Given the description of an element on the screen output the (x, y) to click on. 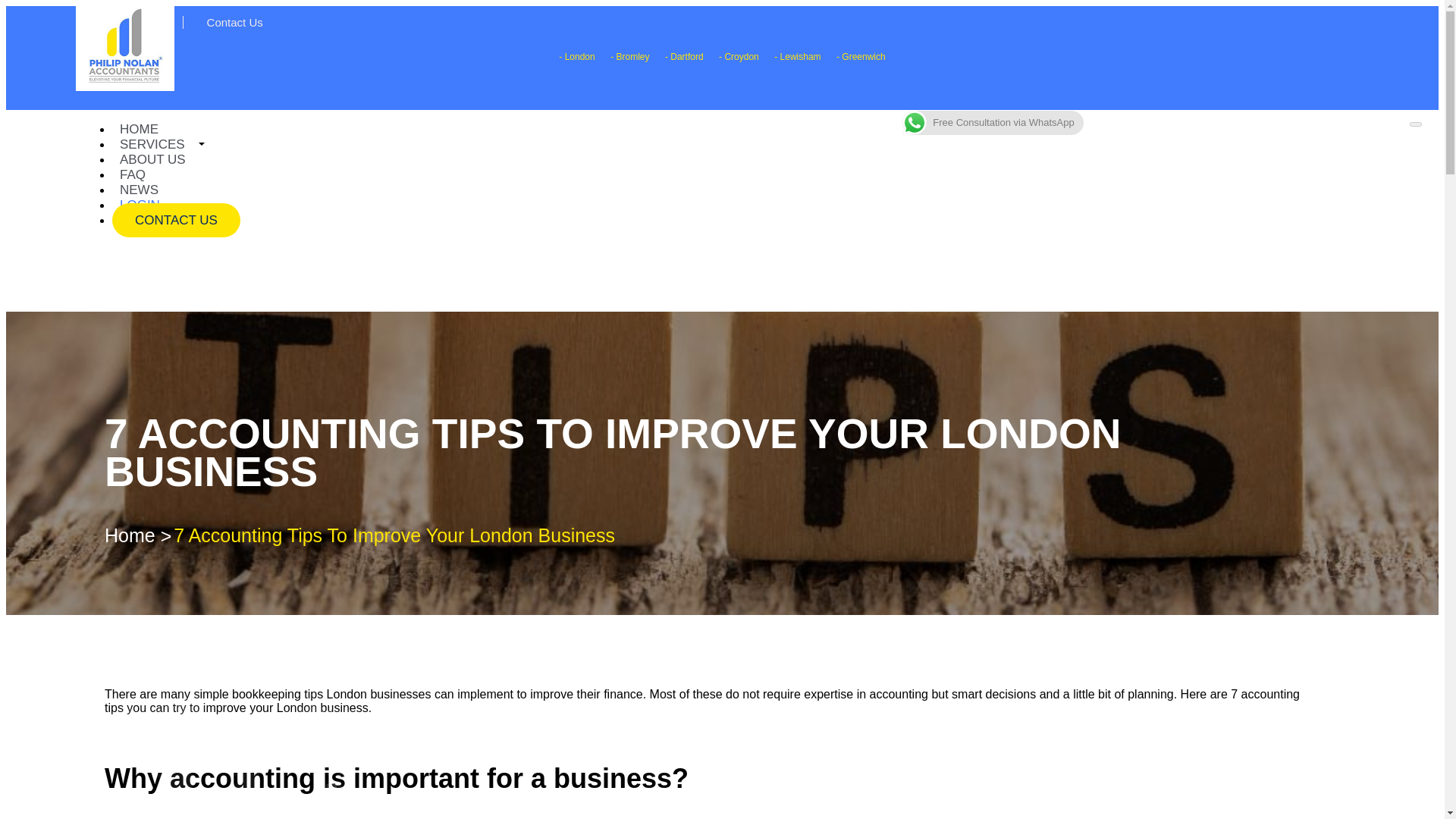
LOGIN (139, 205)
- Bromley (629, 56)
CONTACT US (176, 220)
NEWS (138, 189)
Contact Us (231, 21)
- Dartford (684, 56)
ABOUT US (152, 159)
7 Accounting Tips To Improve Your London Business  (396, 535)
FAQ (132, 174)
- Lewisham (797, 56)
- London (576, 56)
0800 058 8330 (135, 21)
SERVICES (152, 144)
- Greenwich (860, 56)
- Croydon (738, 56)
